Given the description of an element on the screen output the (x, y) to click on. 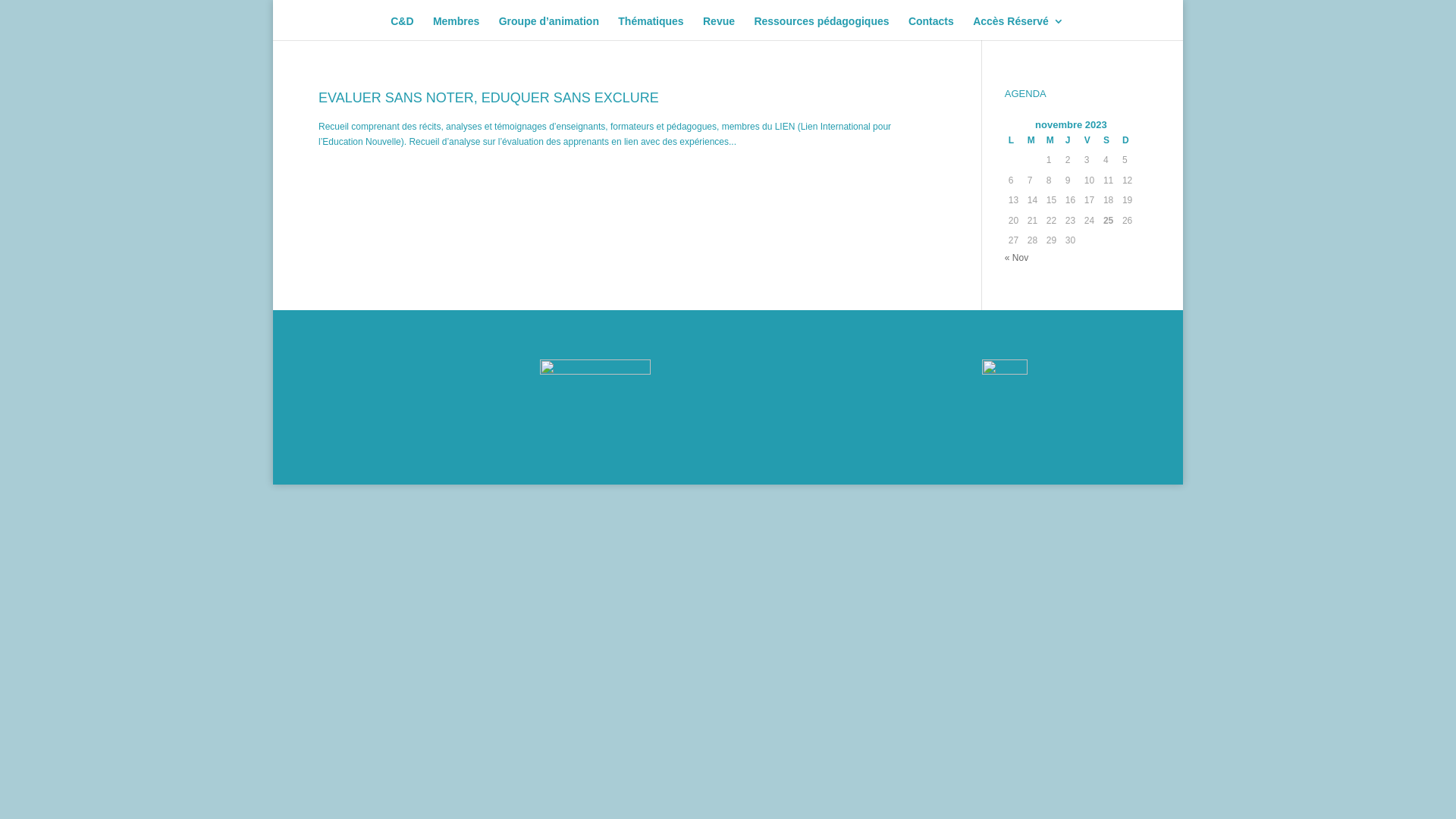
Contacts Element type: text (930, 27)
C&D Element type: text (401, 27)
Membres Element type: text (456, 27)
EVALUER SANS NOTER, EDUQUER SANS EXCLURE Element type: text (488, 97)
Revue Element type: text (718, 27)
